Given the description of an element on the screen output the (x, y) to click on. 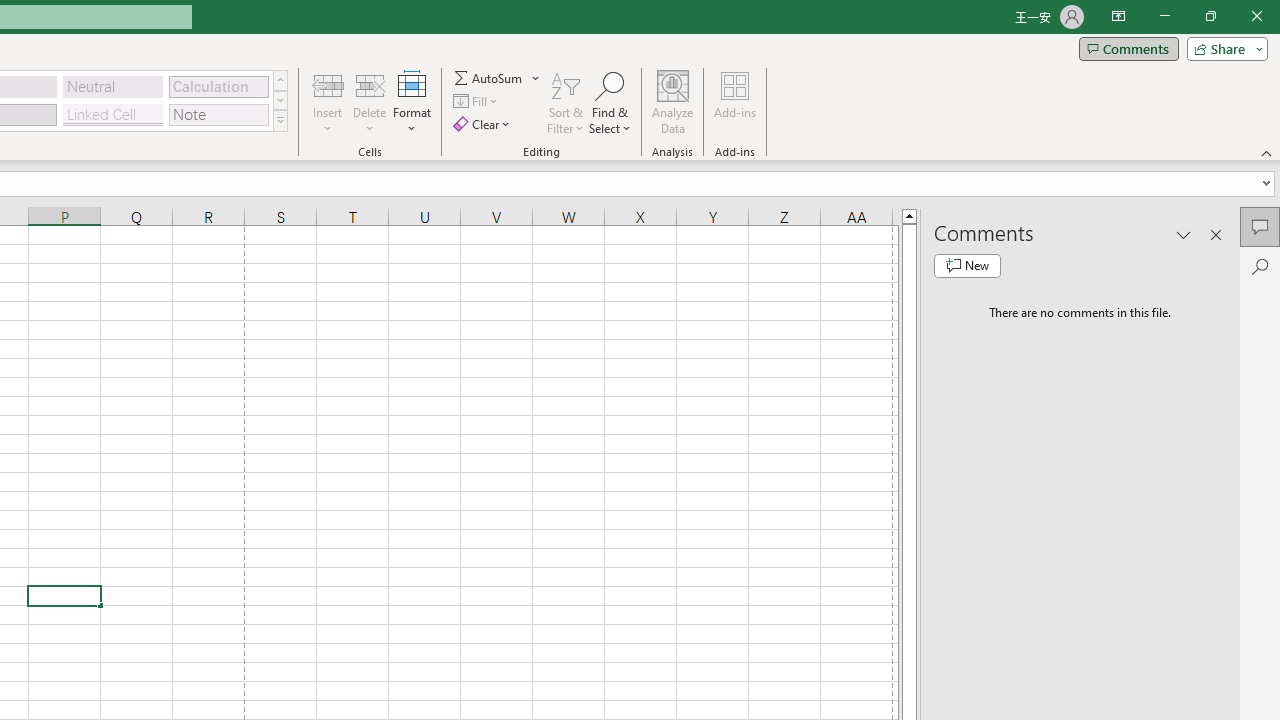
Format (411, 102)
Note (218, 114)
Sum (489, 78)
